Given the description of an element on the screen output the (x, y) to click on. 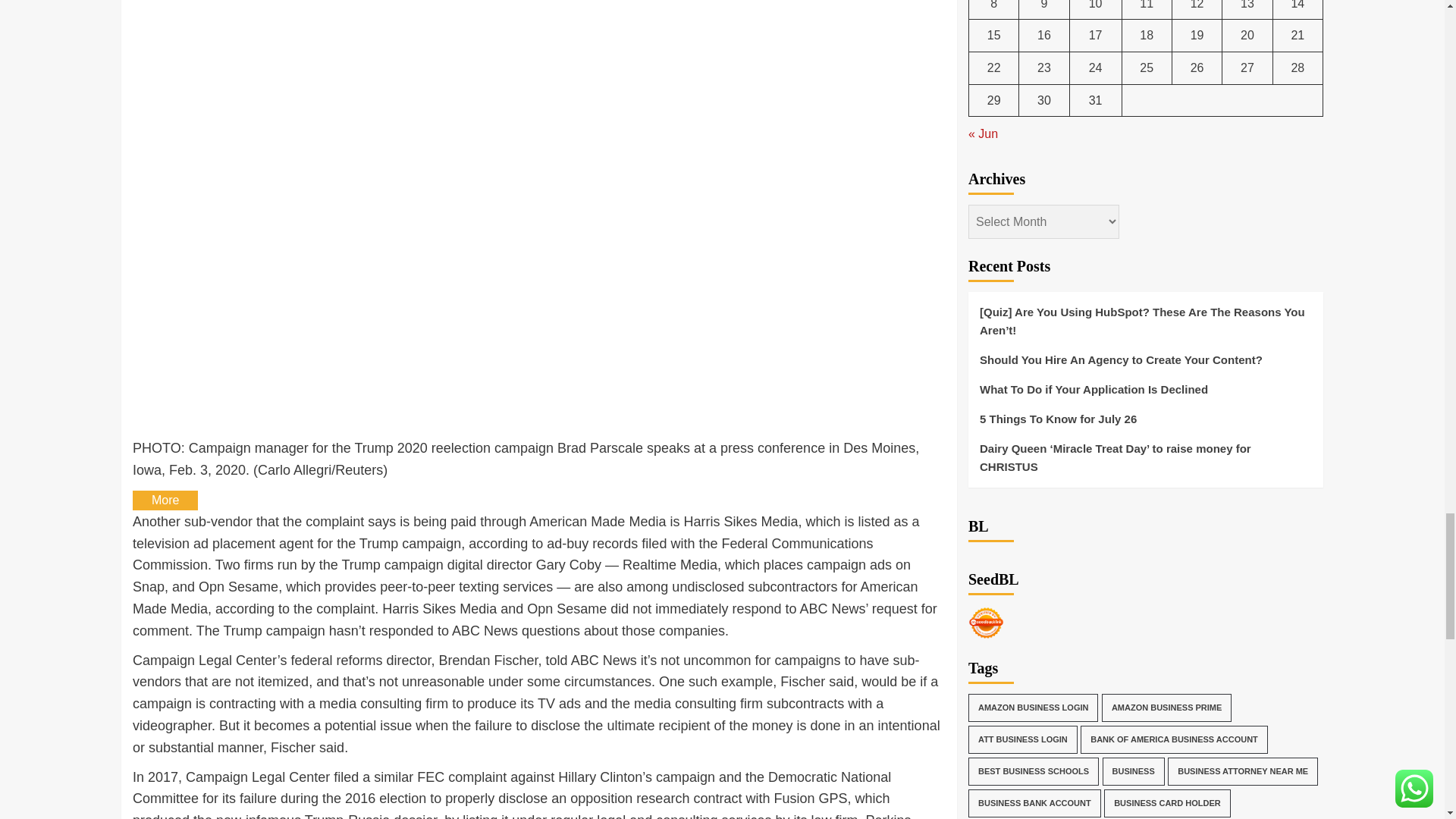
More (165, 500)
